Given the description of an element on the screen output the (x, y) to click on. 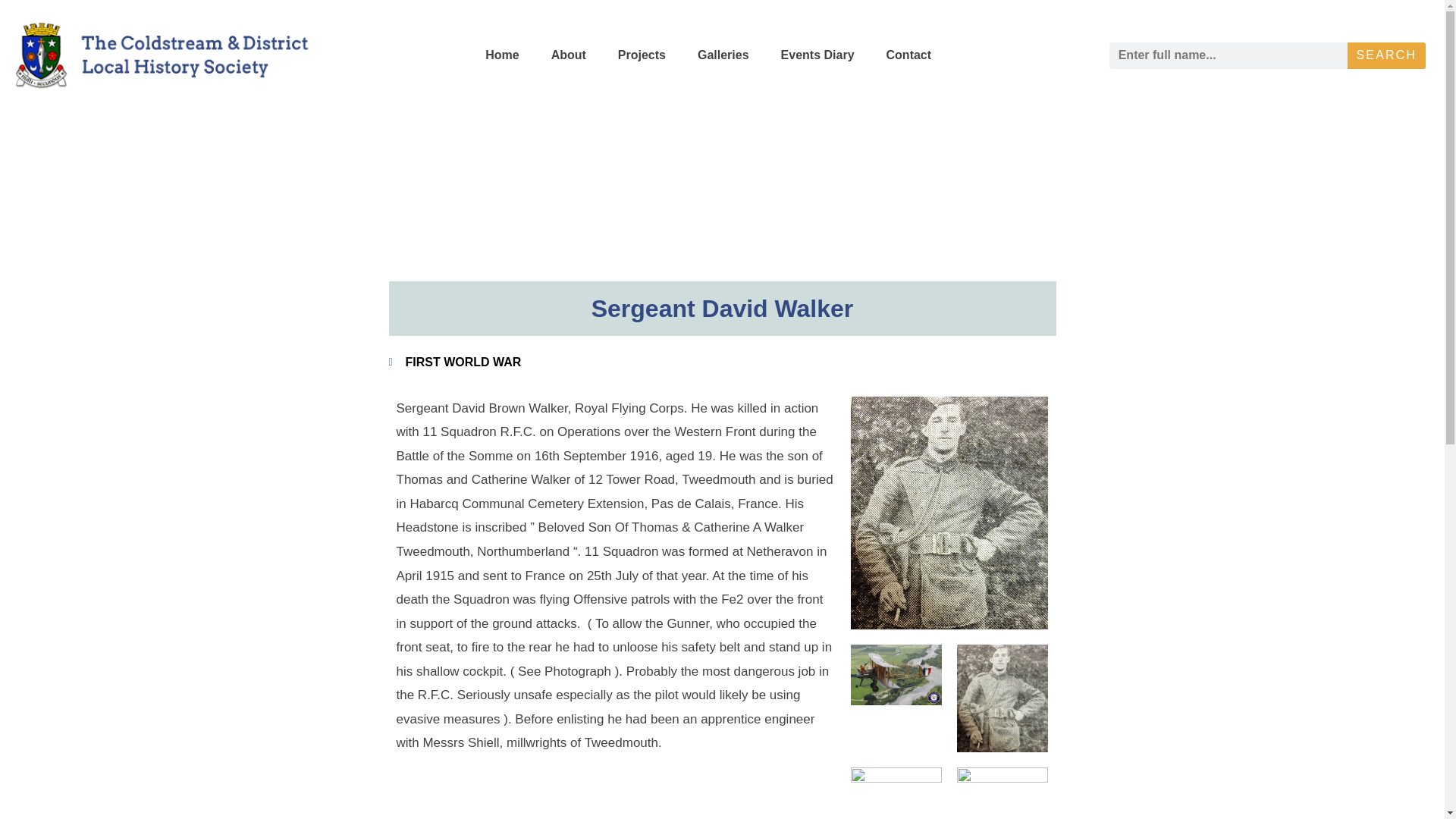
Home (502, 54)
Events Diary (817, 54)
Projects (641, 54)
SEARCH (1386, 55)
Galleries (723, 54)
About (568, 54)
Contact (908, 54)
